Given the description of an element on the screen output the (x, y) to click on. 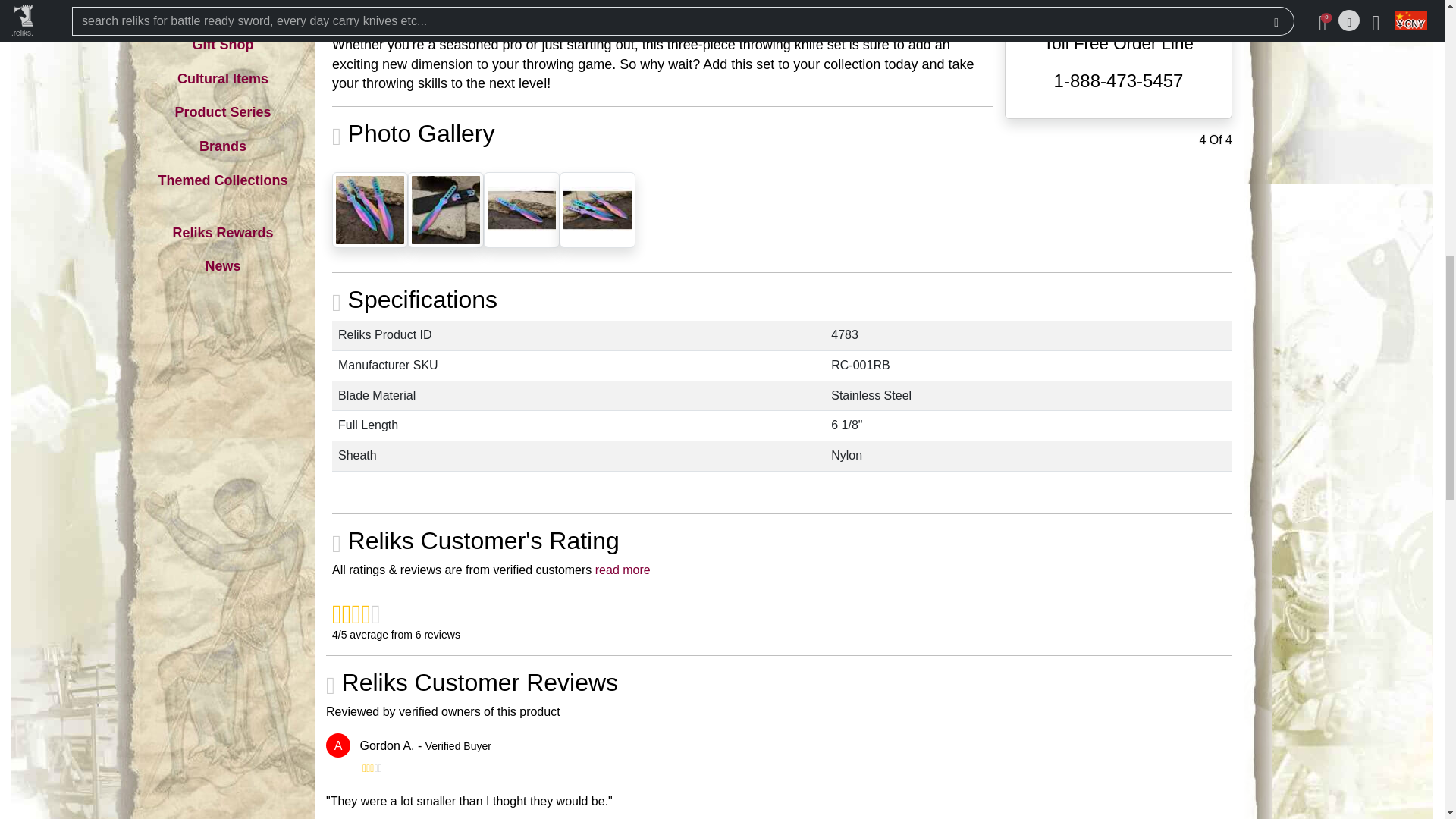
Rainbow effect on the Perfect Point throwing knife (521, 208)
All three pieces fit into the included nylon sheath (445, 208)
Perfect Point Anodized Throwers (369, 208)
read more (622, 569)
Perfect Point anodized folders (596, 208)
